Given the description of an element on the screen output the (x, y) to click on. 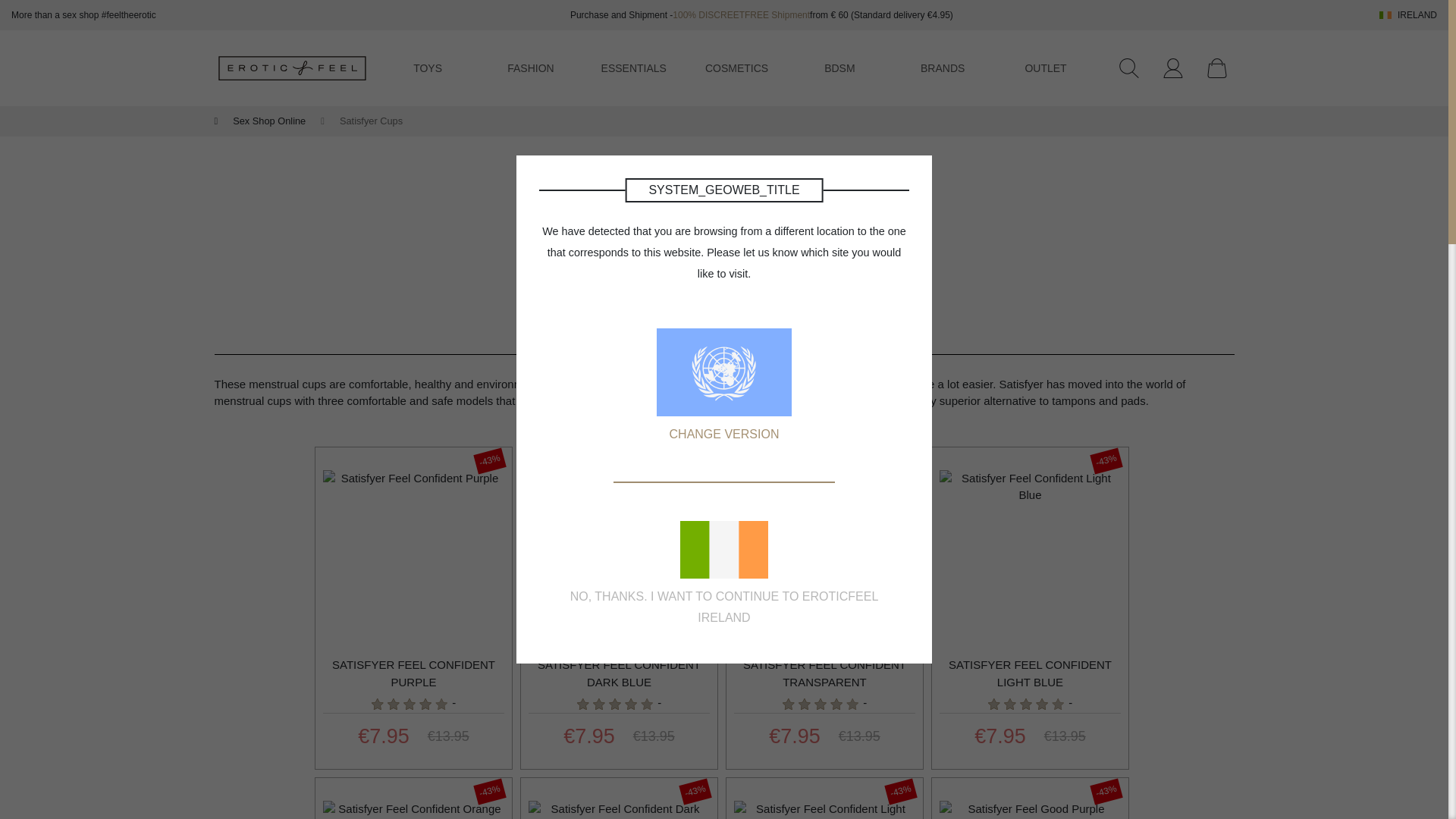
FASHION (529, 68)
IRELAND (1407, 15)
ESSENTIALS (633, 68)
Ireland (1384, 14)
TOYS (427, 68)
